Given the description of an element on the screen output the (x, y) to click on. 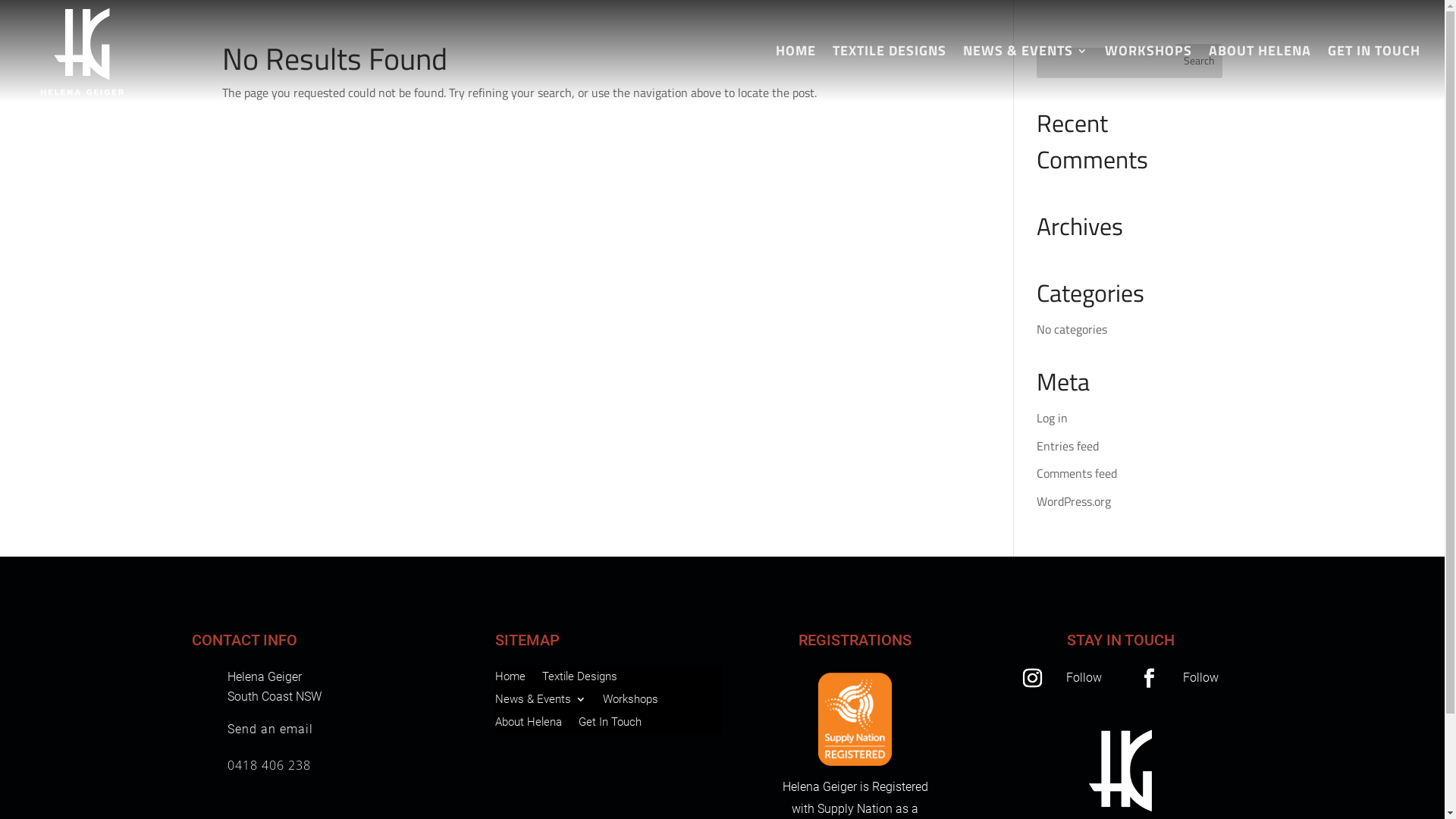
TEXTILE DESIGNS Element type: text (889, 73)
GET IN TOUCH Element type: text (1373, 73)
Home Element type: text (509, 679)
Entries feed Element type: text (1067, 445)
Get In Touch Element type: text (608, 724)
Comments feed Element type: text (1076, 473)
NEWS & EVENTS Element type: text (1025, 73)
Follow Element type: text (1200, 677)
About Helena Element type: text (527, 724)
Workshops Element type: text (629, 701)
WordPress.org Element type: text (1073, 501)
News & Events Element type: text (539, 701)
WORKSHOPS Element type: text (1148, 73)
Log in Element type: text (1051, 417)
Send an email Element type: text (270, 728)
0418 406 238 Element type: text (268, 764)
ABOUT HELENA Element type: text (1259, 73)
Follow Element type: text (1083, 677)
Follow on Facebook Element type: hover (1148, 678)
Search Element type: text (1199, 58)
HOME Element type: text (795, 73)
Textile Designs Element type: text (578, 679)
Follow on Instagram Element type: hover (1032, 678)
